Given the description of an element on the screen output the (x, y) to click on. 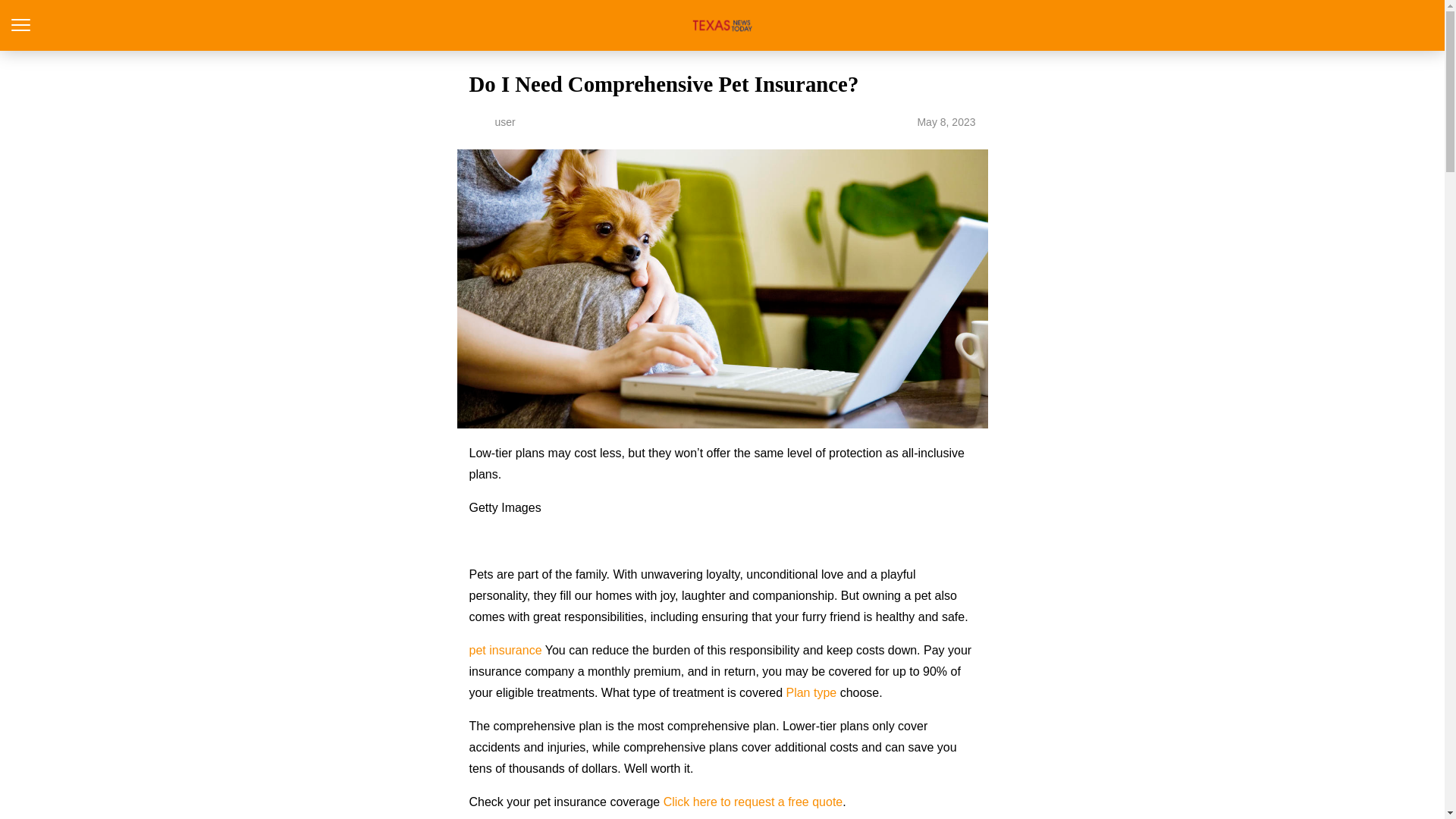
Texasnewstoday.com (721, 25)
Plan type (810, 692)
Click here to request a free quote (753, 801)
pet insurance (504, 649)
